Given the description of an element on the screen output the (x, y) to click on. 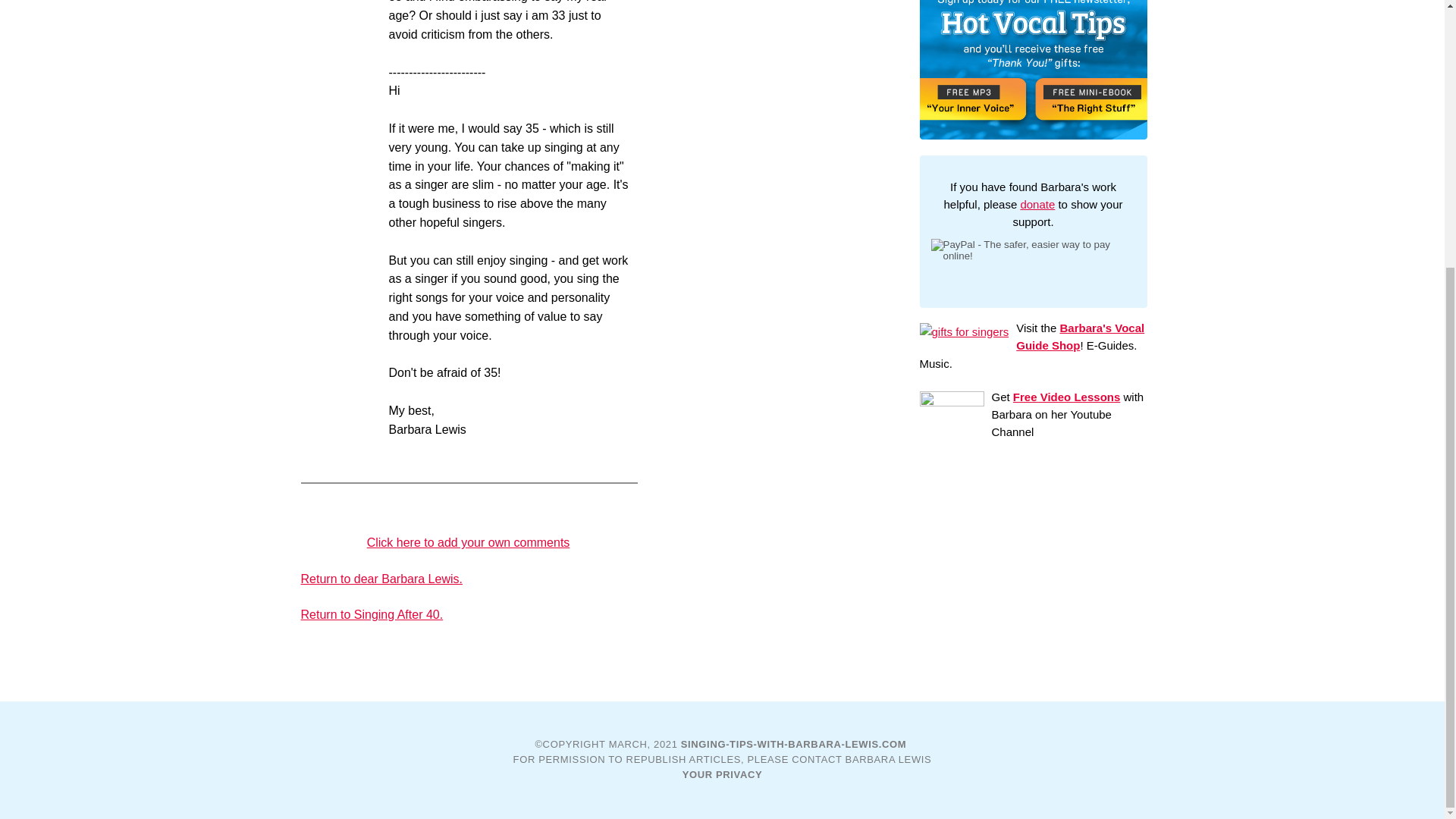
Barbara's Vocal Guide Shop (1080, 336)
SINGING-TIPS-WITH-BARBARA-LEWIS.COM (794, 744)
Free Video Lessons (1066, 396)
donate (1037, 204)
Return to dear Barbara Lewis. (380, 578)
Return to Singing After 40. (370, 614)
YOUR PRIVACY (722, 774)
gifts for singers (963, 331)
Click here to add your own comments (468, 542)
